Given the description of an element on the screen output the (x, y) to click on. 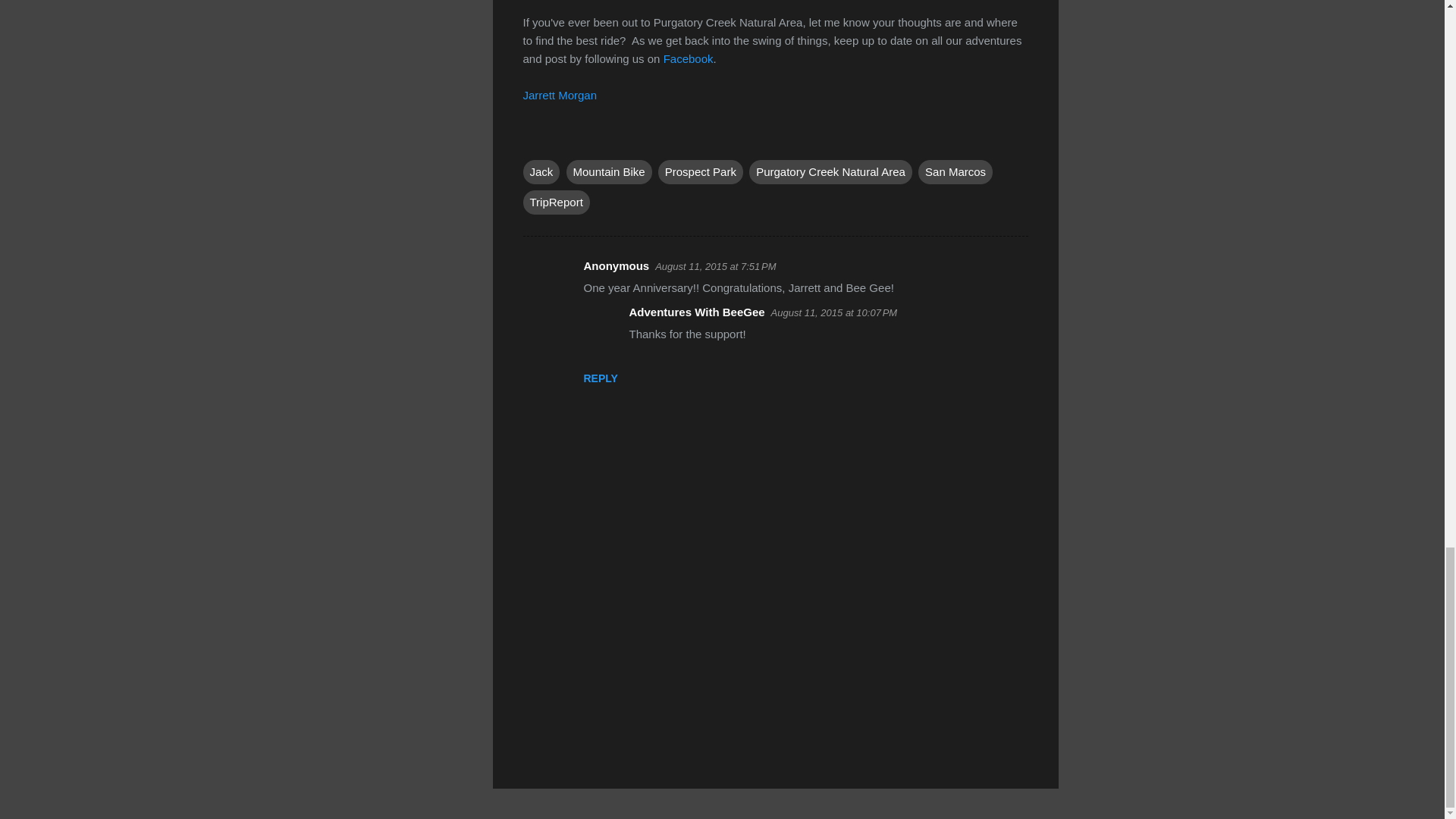
Jarrett Morgan (559, 94)
Prospect Park (700, 171)
Adventures With BeeGee (696, 311)
Facebook (688, 58)
TripReport (555, 202)
San Marcos (955, 171)
Mountain Bike (609, 171)
Jack (541, 171)
